Given the description of an element on the screen output the (x, y) to click on. 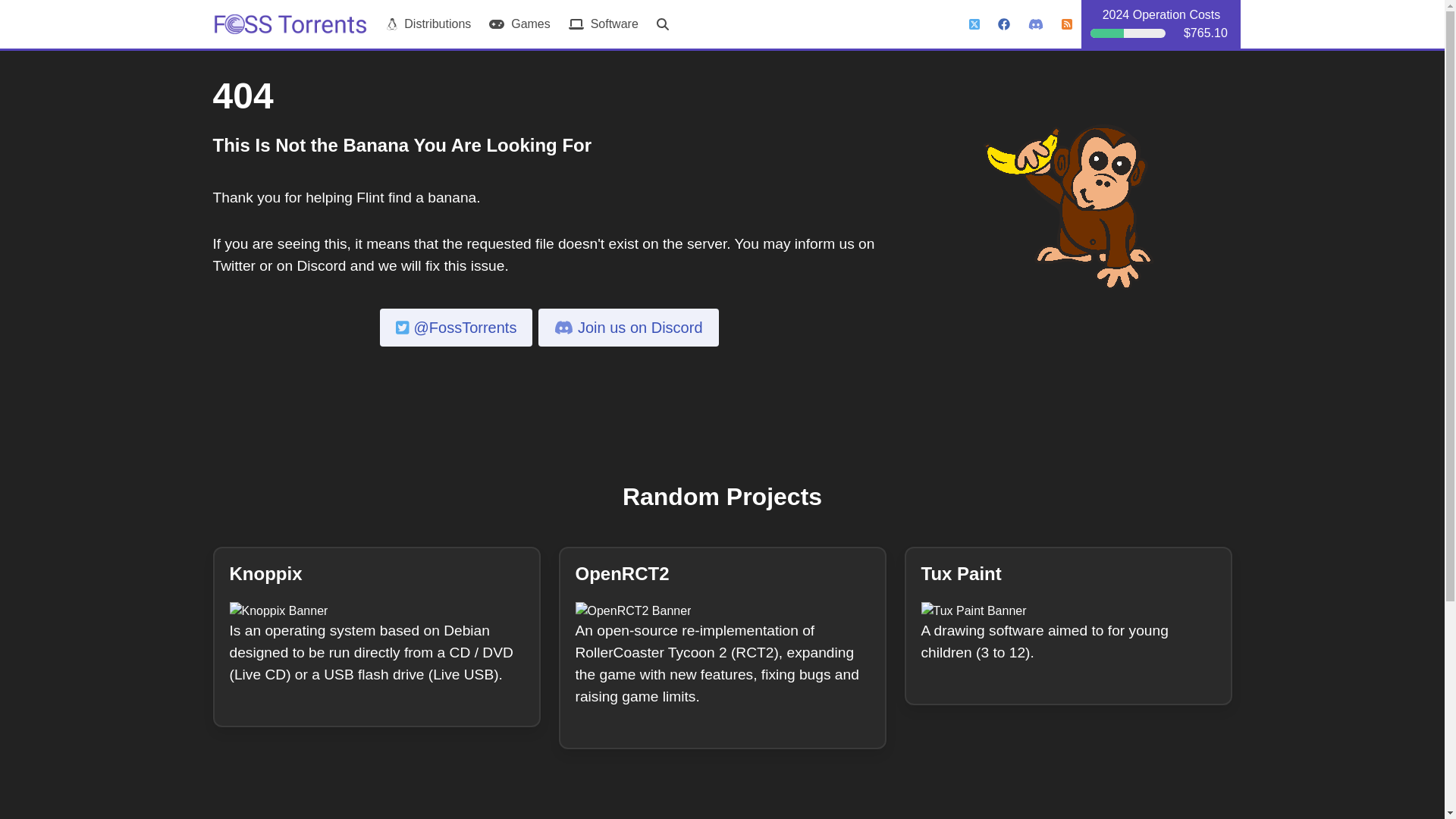
  Games (519, 24)
  Distributions (428, 24)
  Software (603, 24)
 Join us on Discord (627, 327)
